Given the description of an element on the screen output the (x, y) to click on. 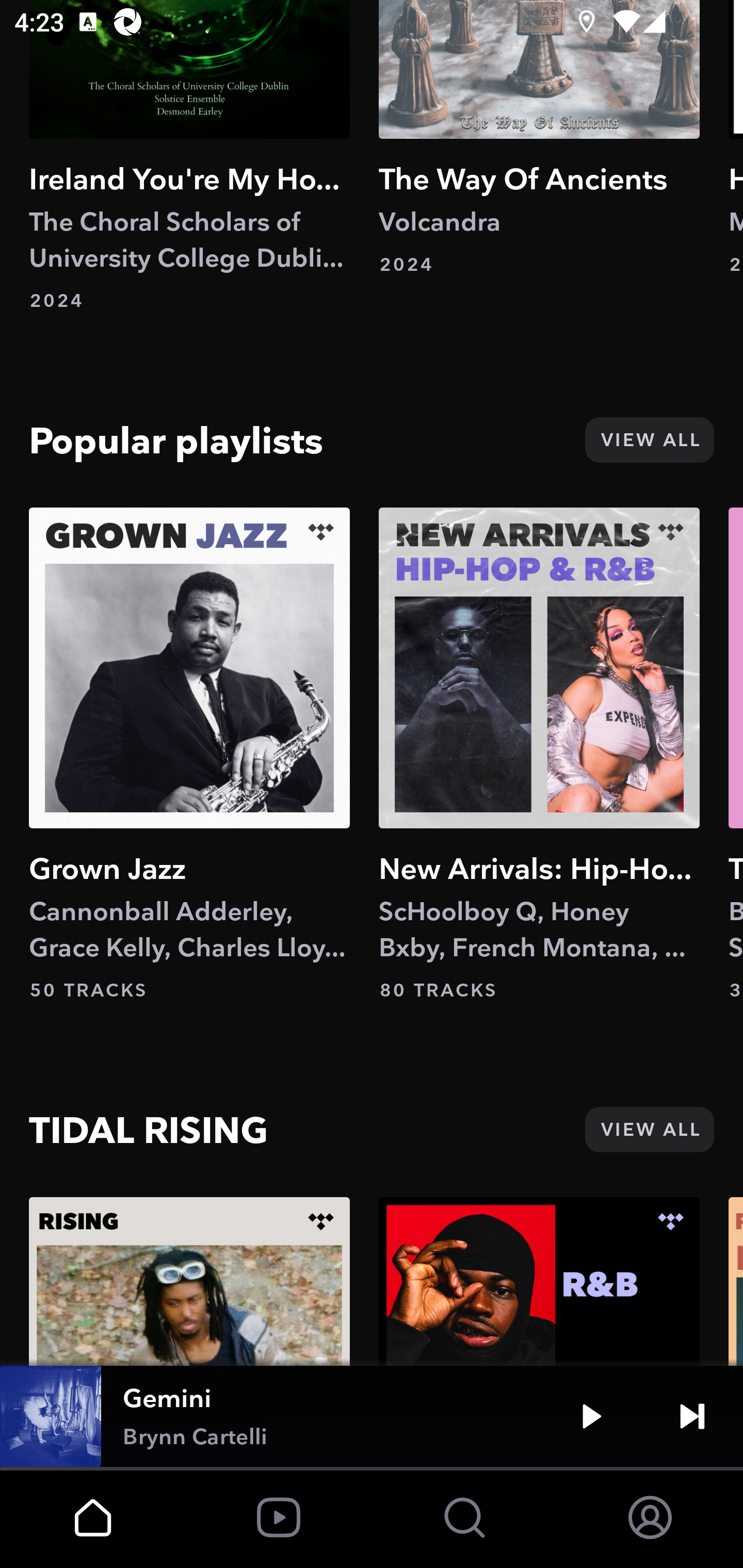
The Way Of Ancients Volcandra 2024 (538, 137)
VIEW ALL (649, 439)
VIEW ALL (649, 1129)
Gemini Brynn Cartelli Play (371, 1416)
Play (590, 1416)
